Given the description of an element on the screen output the (x, y) to click on. 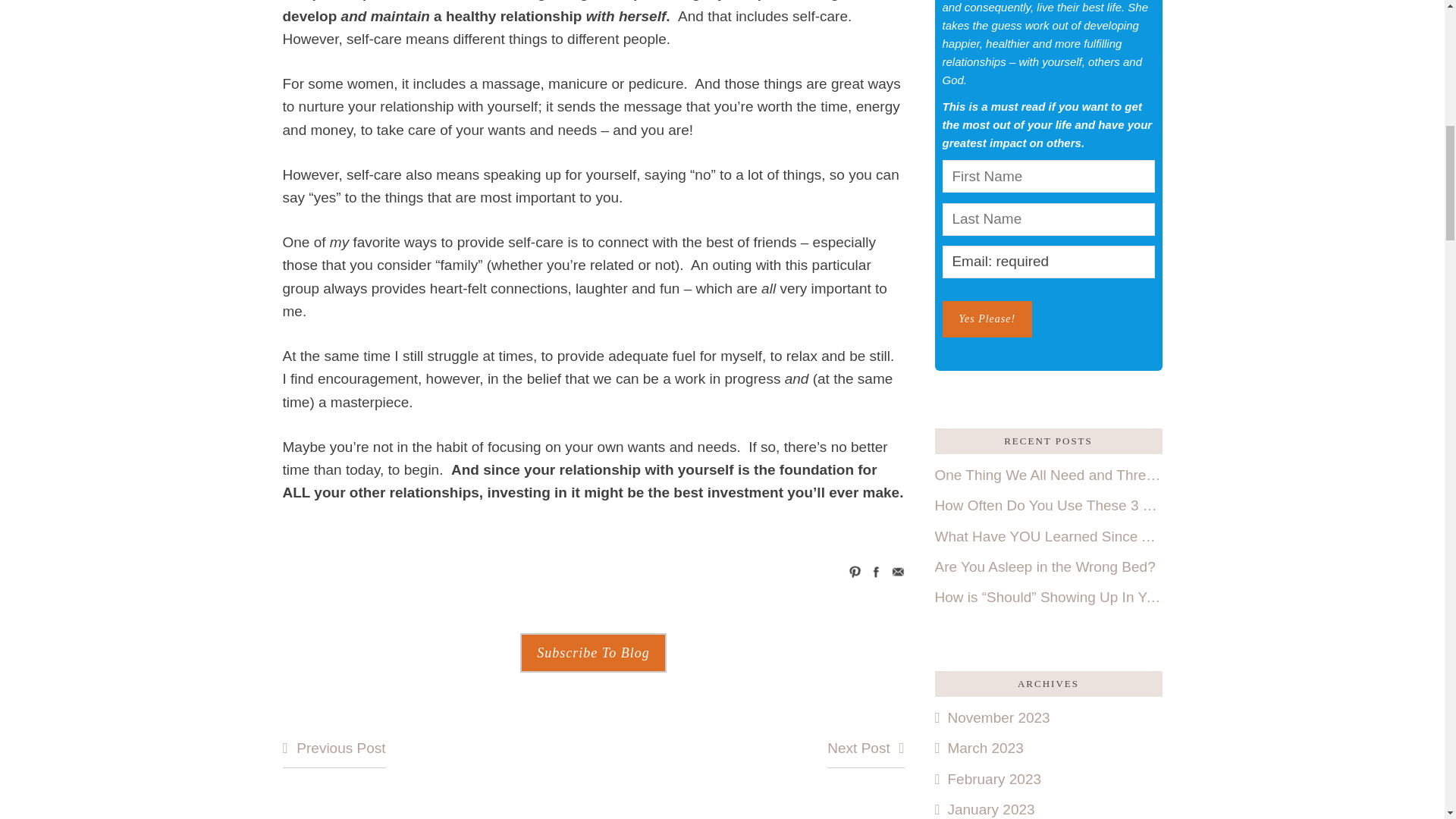
March 2023 (978, 747)
January 2023 (983, 809)
What Have YOU Learned Since August 23, 2020? (1047, 536)
November 2023 (991, 717)
Next Post (865, 749)
Yes Please! (987, 319)
February 2023 (987, 779)
Email: required (1048, 261)
How Often Do You Use These 3 Hurtful Words? (1047, 505)
Share by Email (897, 571)
